Given the description of an element on the screen output the (x, y) to click on. 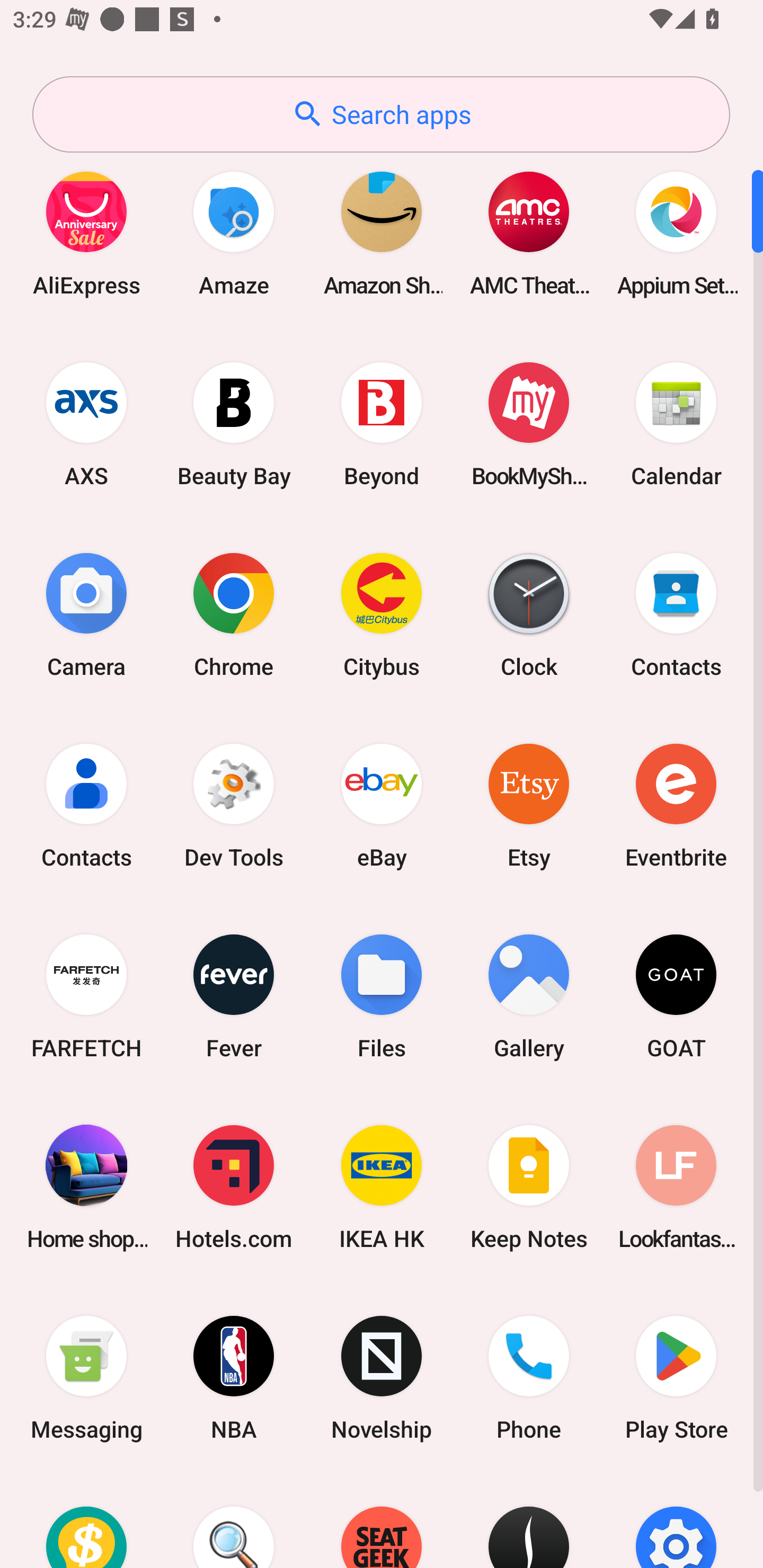
  Search apps (381, 114)
AliExpress (86, 233)
Amaze (233, 233)
Amazon Shopping (381, 233)
AMC Theatres (528, 233)
Appium Settings (676, 233)
AXS (86, 424)
Beauty Bay (233, 424)
Beyond (381, 424)
BookMyShow (528, 424)
Calendar (676, 424)
Camera (86, 614)
Chrome (233, 614)
Citybus (381, 614)
Clock (528, 614)
Contacts (676, 614)
Contacts (86, 805)
Dev Tools (233, 805)
eBay (381, 805)
Etsy (528, 805)
Eventbrite (676, 805)
FARFETCH (86, 996)
Fever (233, 996)
Files (381, 996)
Gallery (528, 996)
GOAT (676, 996)
Home shopping (86, 1186)
Hotels.com (233, 1186)
IKEA HK (381, 1186)
Keep Notes (528, 1186)
Lookfantastic (676, 1186)
Messaging (86, 1377)
NBA (233, 1377)
Novelship (381, 1377)
Phone (528, 1377)
Play Store (676, 1377)
Price (86, 1520)
Search (233, 1520)
SeatGeek (381, 1520)
Sephora (528, 1520)
Settings (676, 1520)
